Given the description of an element on the screen output the (x, y) to click on. 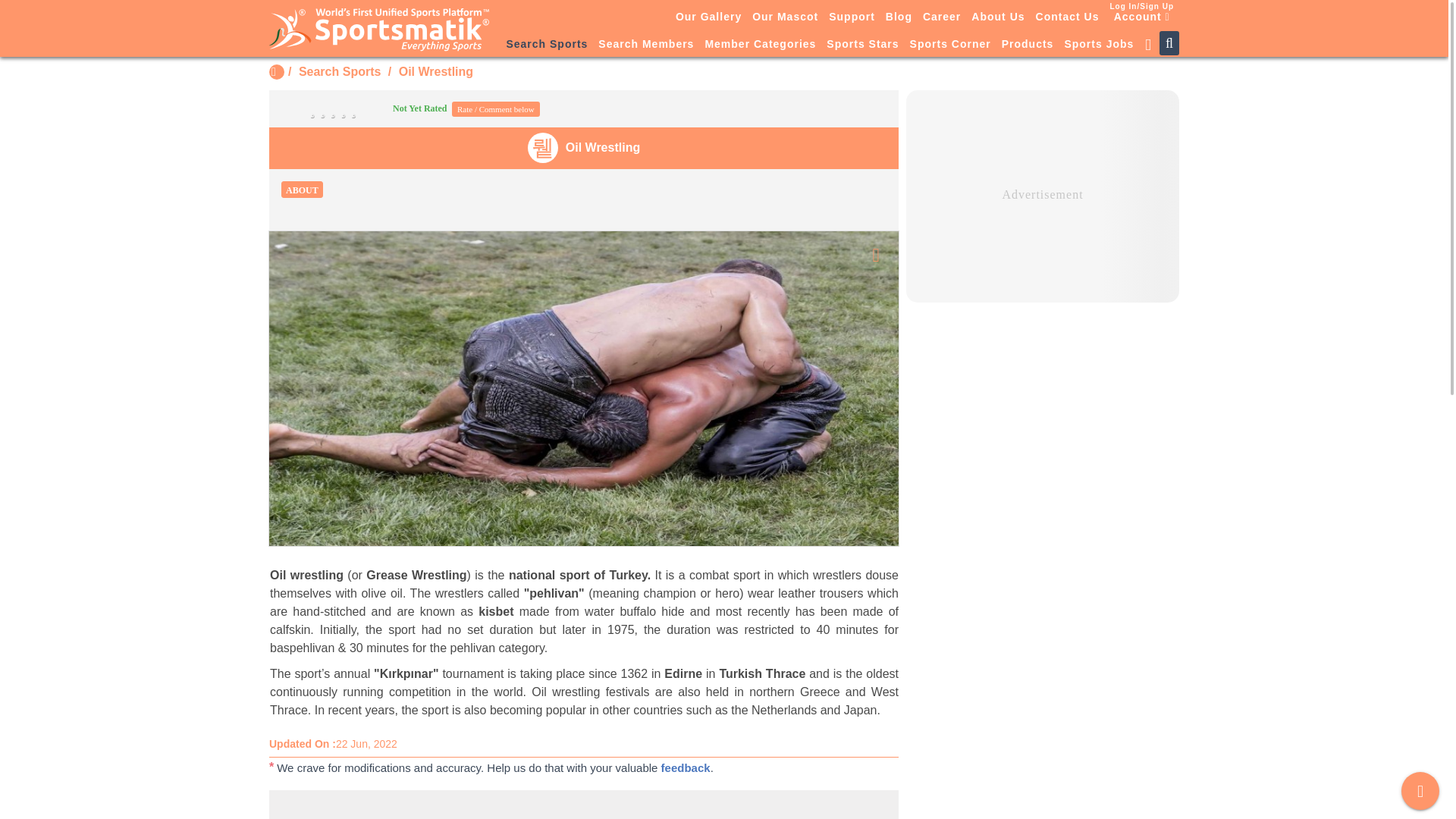
Contact Us (1067, 15)
Search Sports (339, 71)
Search Sports (546, 44)
Sports Jobs (1098, 44)
Our Mascot (785, 15)
Blog (898, 15)
Products (1027, 44)
Career (941, 15)
Not Yet Rated (366, 108)
Member Categories (759, 44)
